Given the description of an element on the screen output the (x, y) to click on. 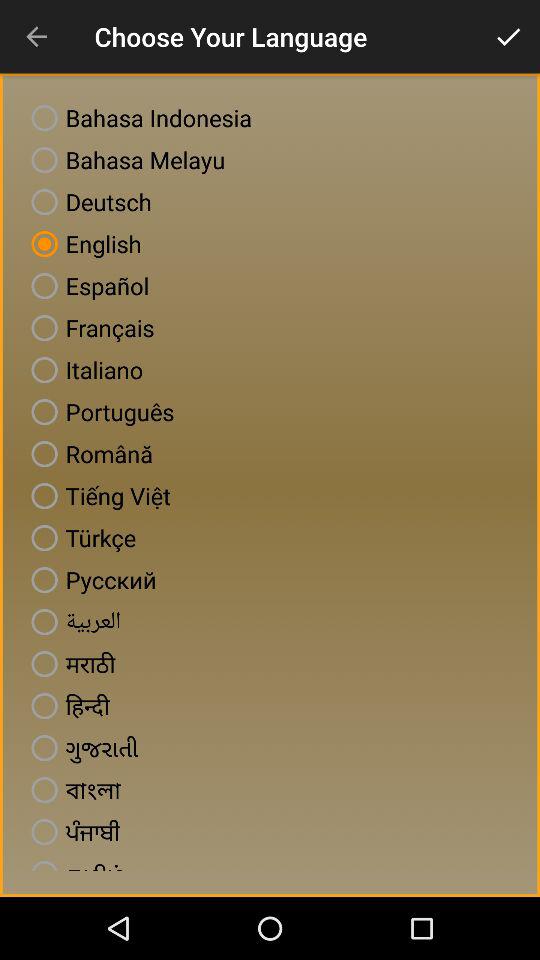
jump until the italiano icon (83, 370)
